Given the description of an element on the screen output the (x, y) to click on. 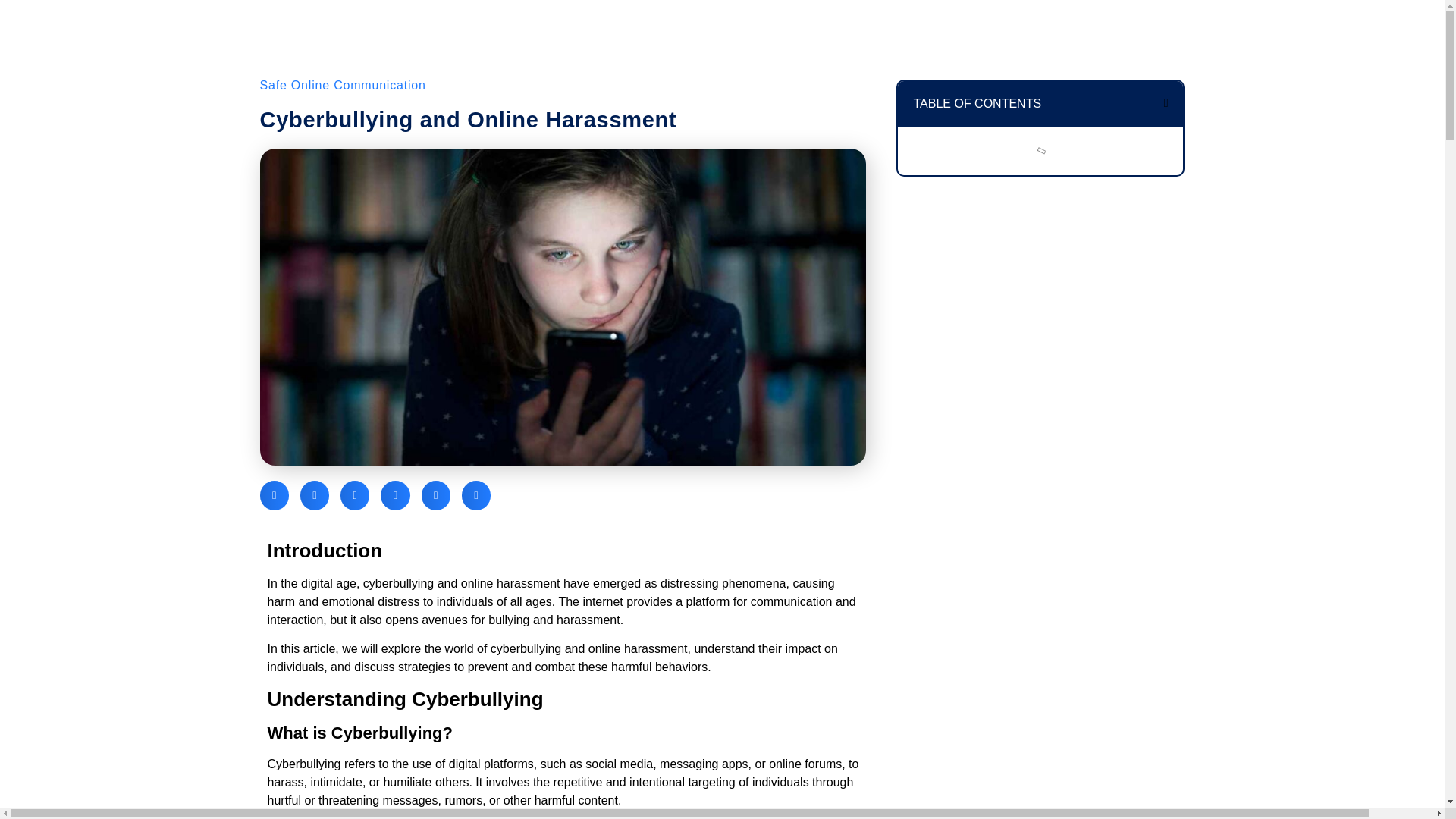
Safe Online Communication (342, 84)
